Given the description of an element on the screen output the (x, y) to click on. 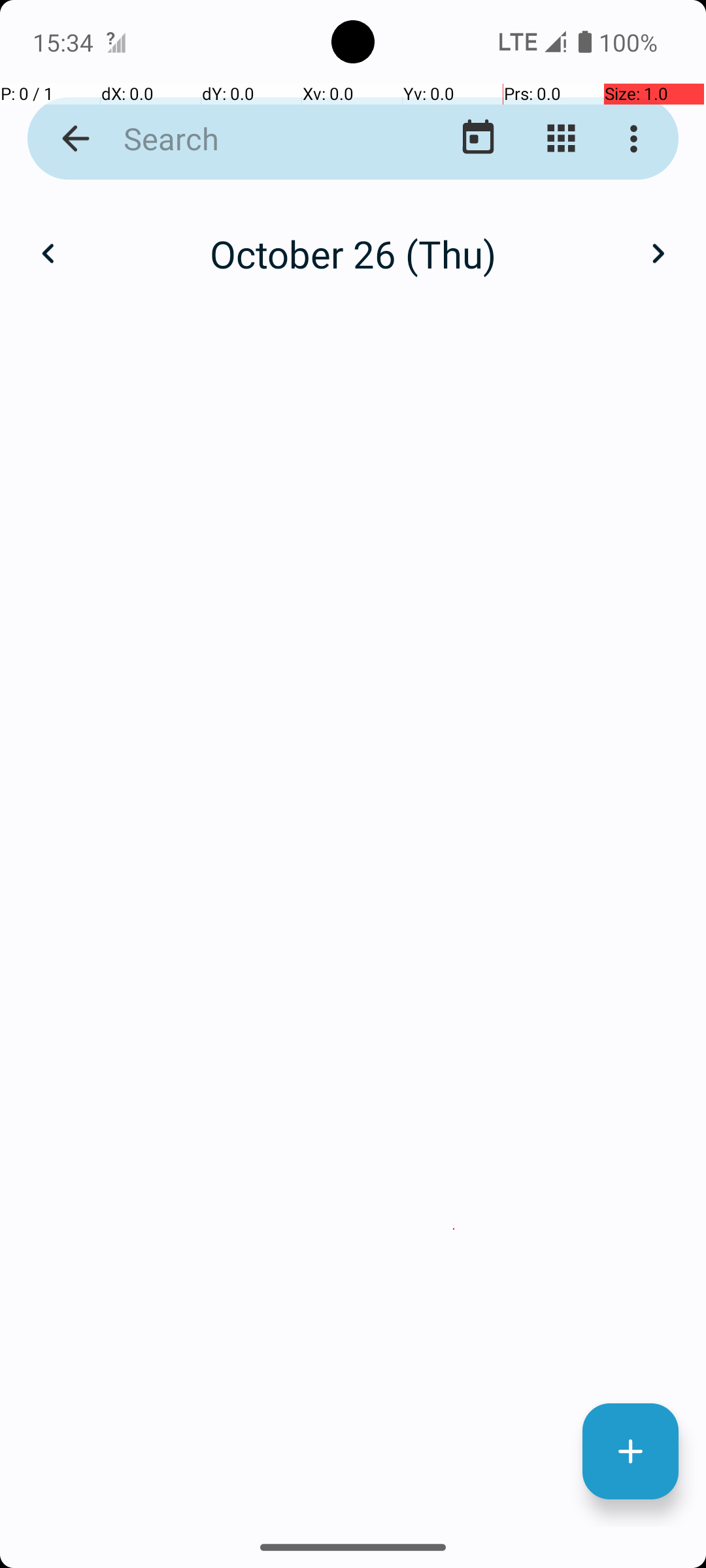
October 26 (Thu) Element type: android.widget.TextView (352, 253)
